Given the description of an element on the screen output the (x, y) to click on. 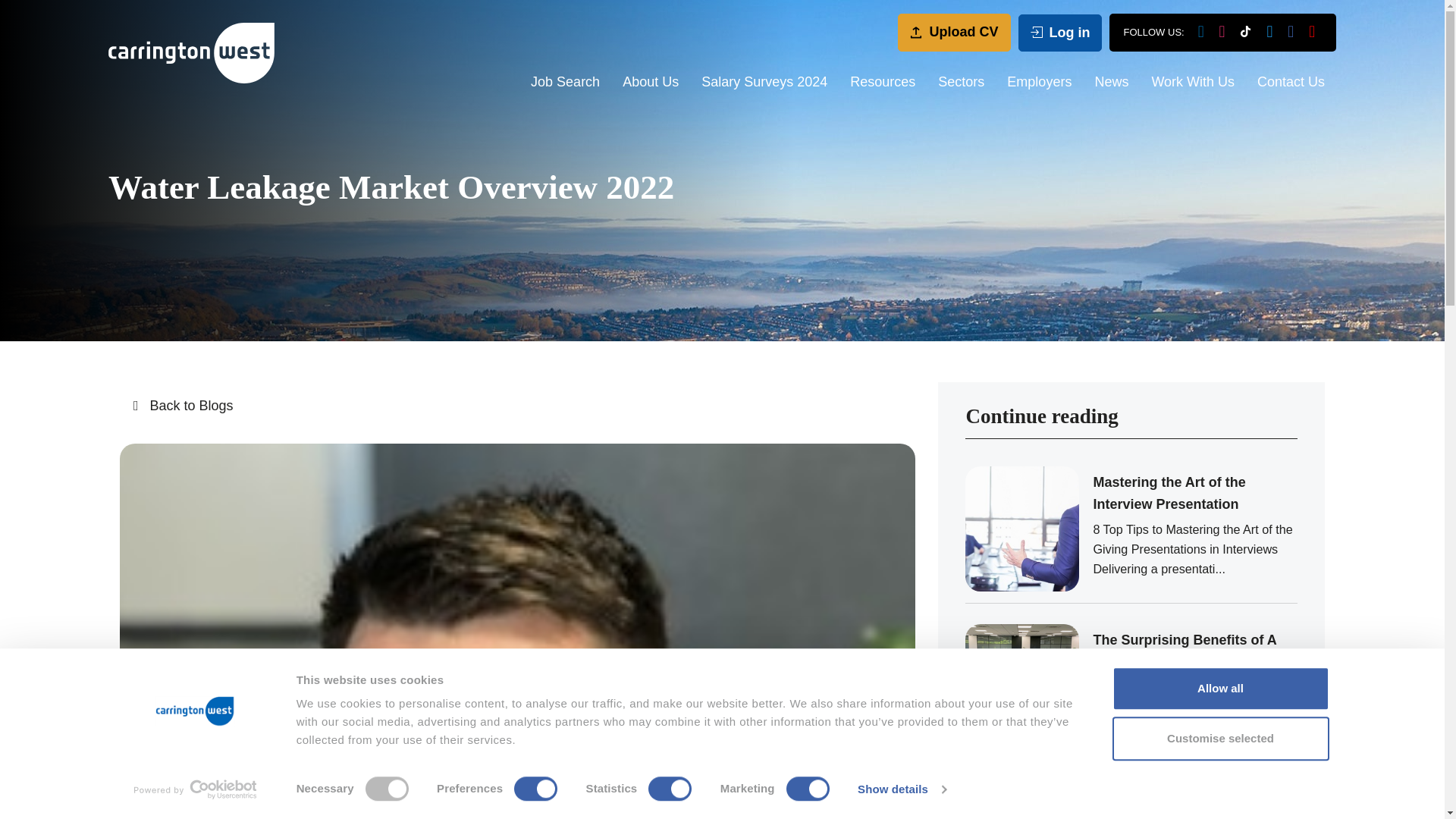
Show details (900, 789)
Go to the Homepage (191, 52)
Tweet this (333, 761)
share on Facebook (376, 761)
